Given the description of an element on the screen output the (x, y) to click on. 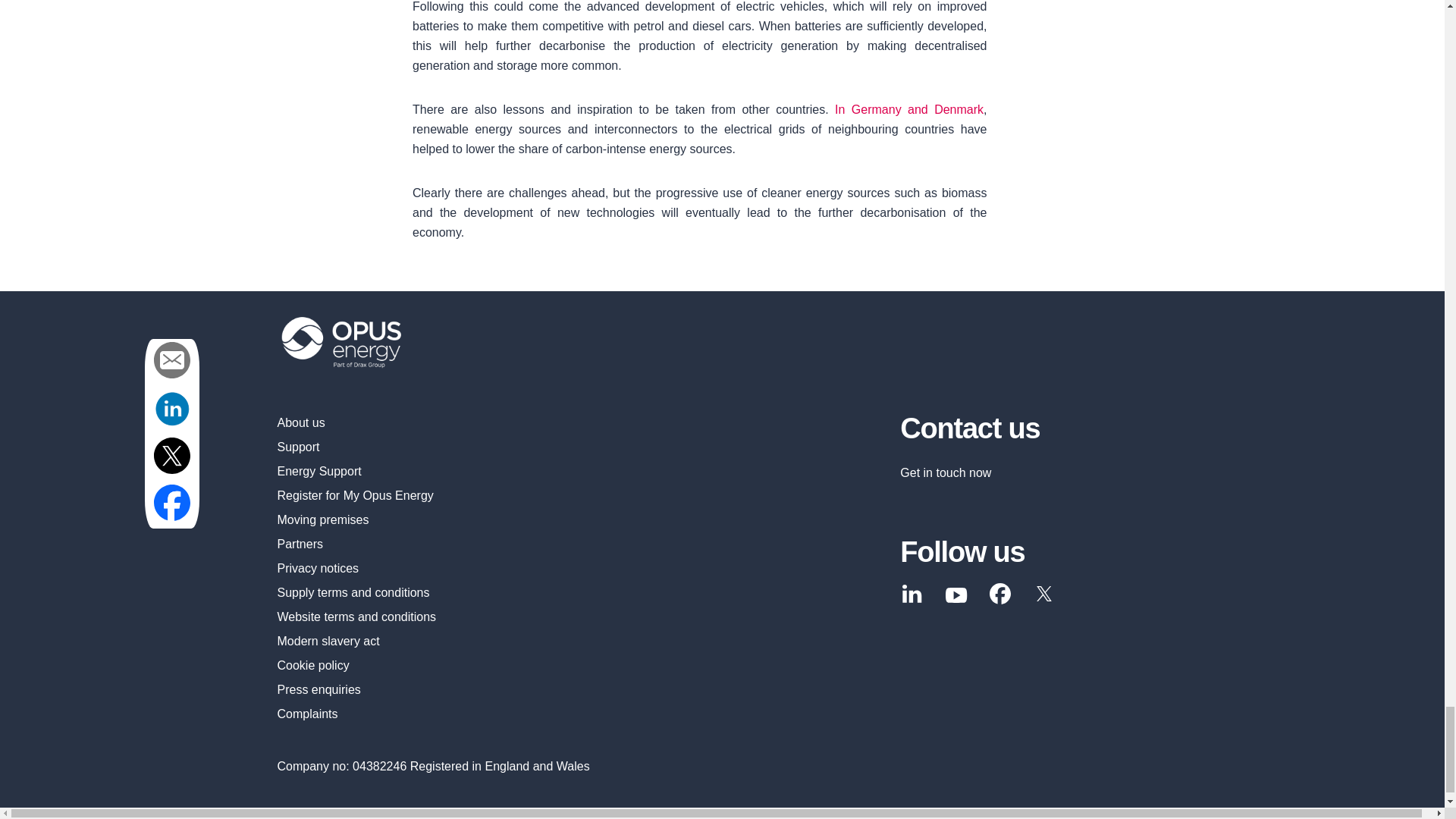
LinkedIn (911, 593)
Youtube (955, 595)
Twitter (1044, 593)
Facebook (999, 593)
